Given the description of an element on the screen output the (x, y) to click on. 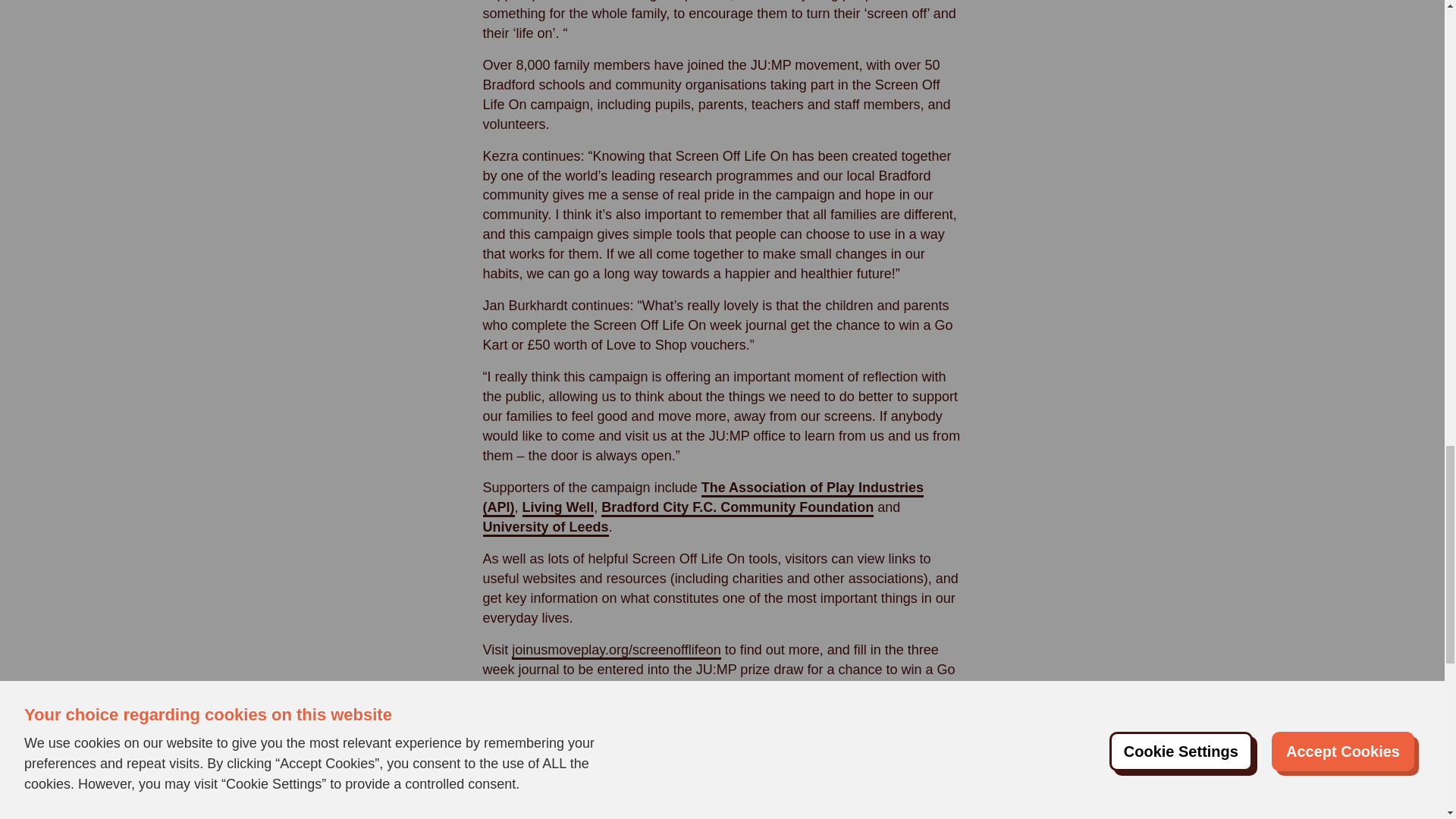
Living Well (558, 507)
Bradford City F.C. Community Foundation (737, 507)
University of Leeds (544, 528)
